Given the description of an element on the screen output the (x, y) to click on. 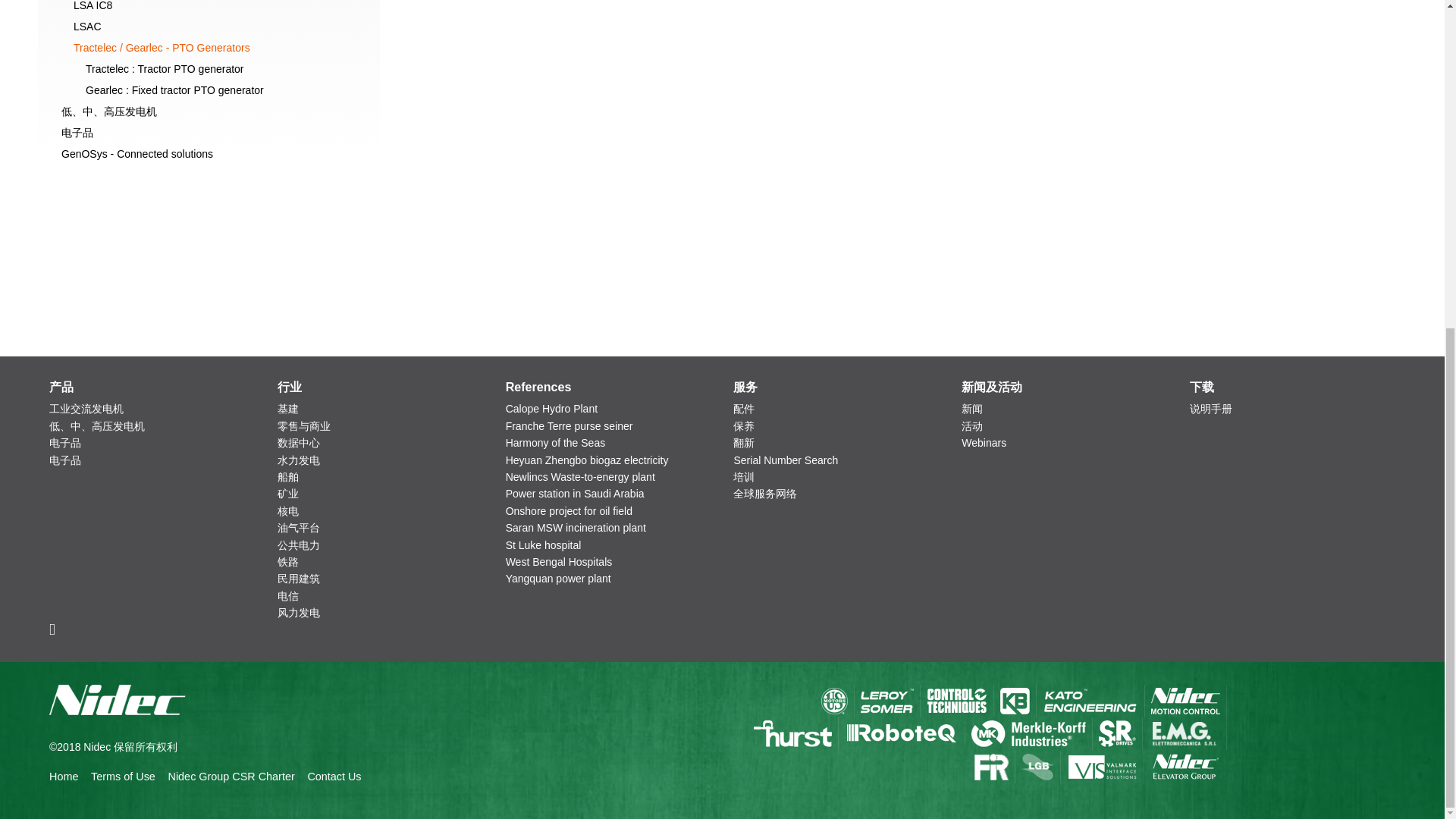
Leroy-Somer (886, 700)
